Given the description of an element on the screen output the (x, y) to click on. 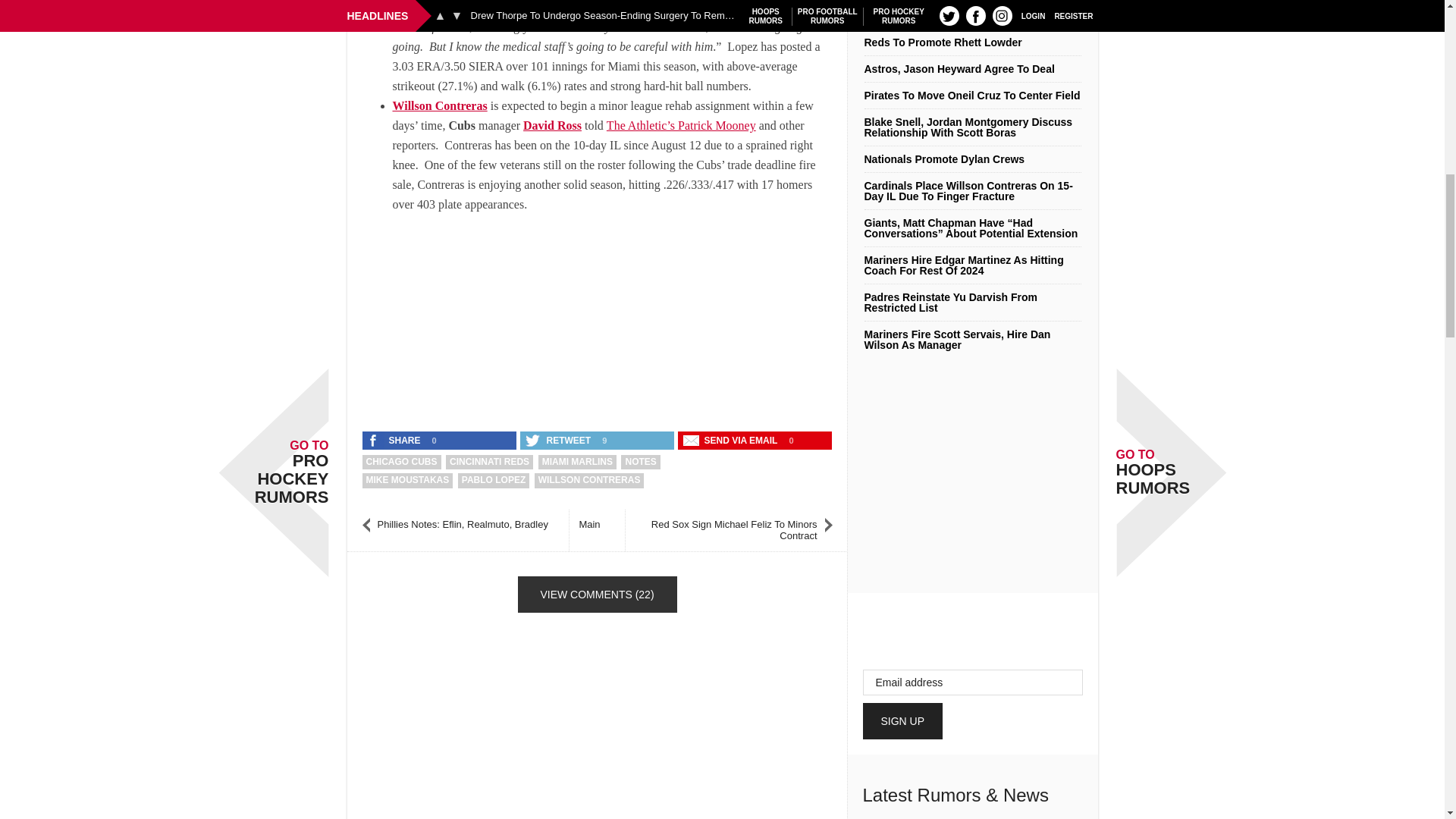
Sign Up (903, 720)
